Given the description of an element on the screen output the (x, y) to click on. 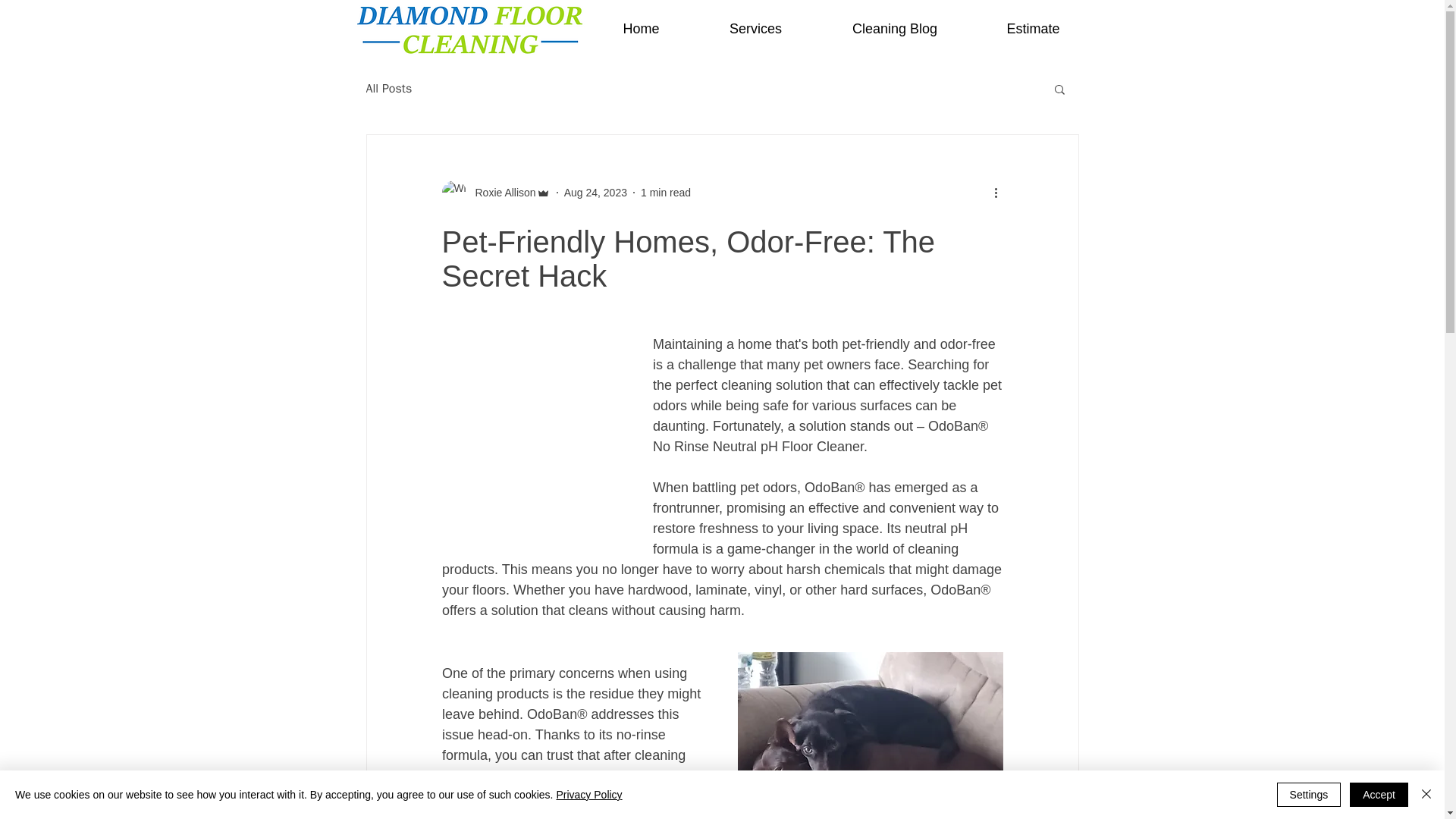
Cleaning Blog (893, 28)
Aug 24, 2023 (595, 192)
Estimate (1033, 28)
Roxie Allison (495, 192)
1 min read (665, 192)
All Posts (388, 88)
Roxie Allison (500, 192)
Home (640, 28)
